Given the description of an element on the screen output the (x, y) to click on. 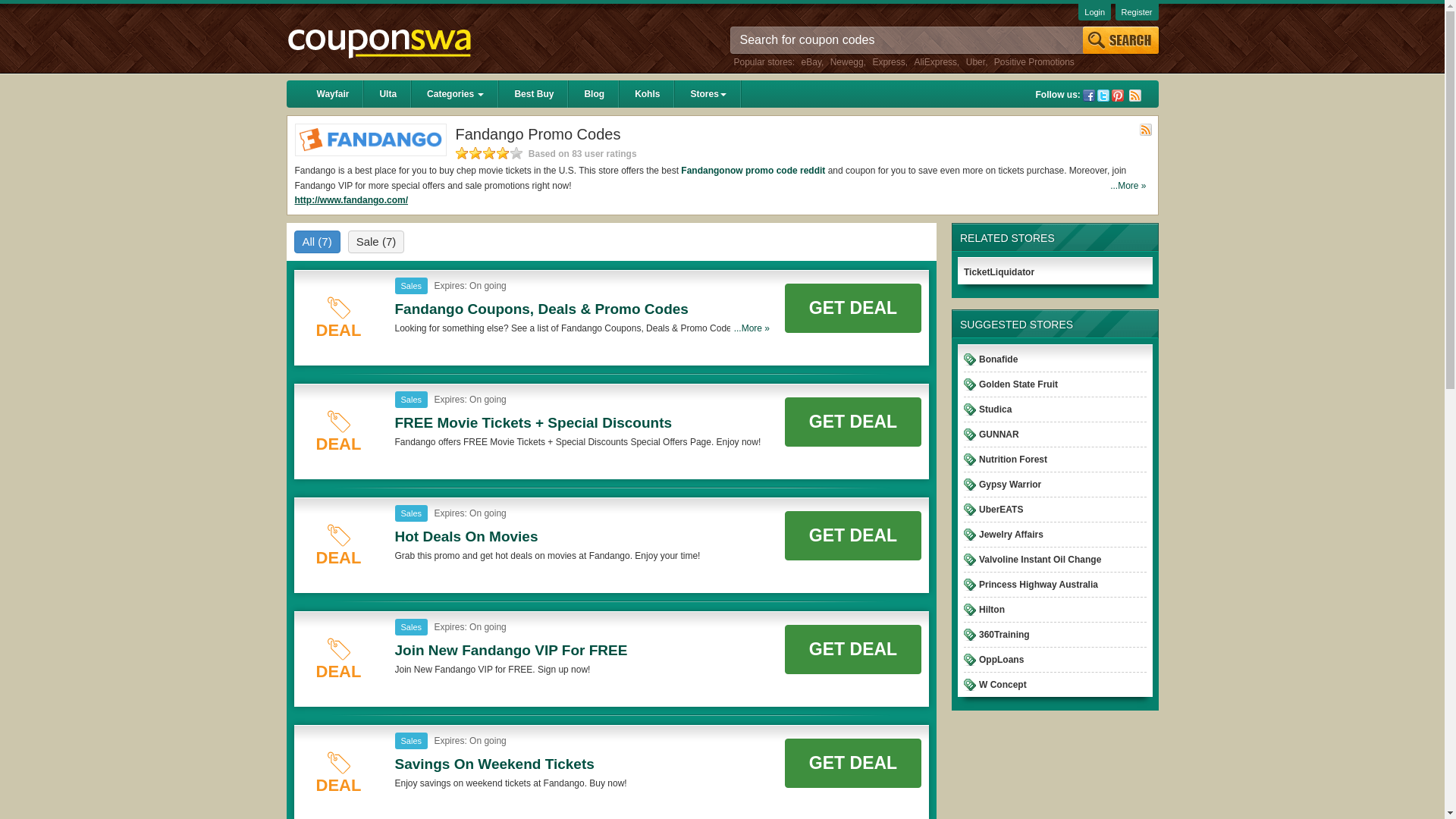
Categories (455, 93)
Register (1136, 12)
Pinterest (1118, 95)
Blog (594, 93)
TicketLiquidator (998, 271)
Uber coupons (975, 61)
Facebook (1088, 95)
Login (1094, 12)
Bonafide (997, 358)
Nutrition Forest (1012, 459)
